Given the description of an element on the screen output the (x, y) to click on. 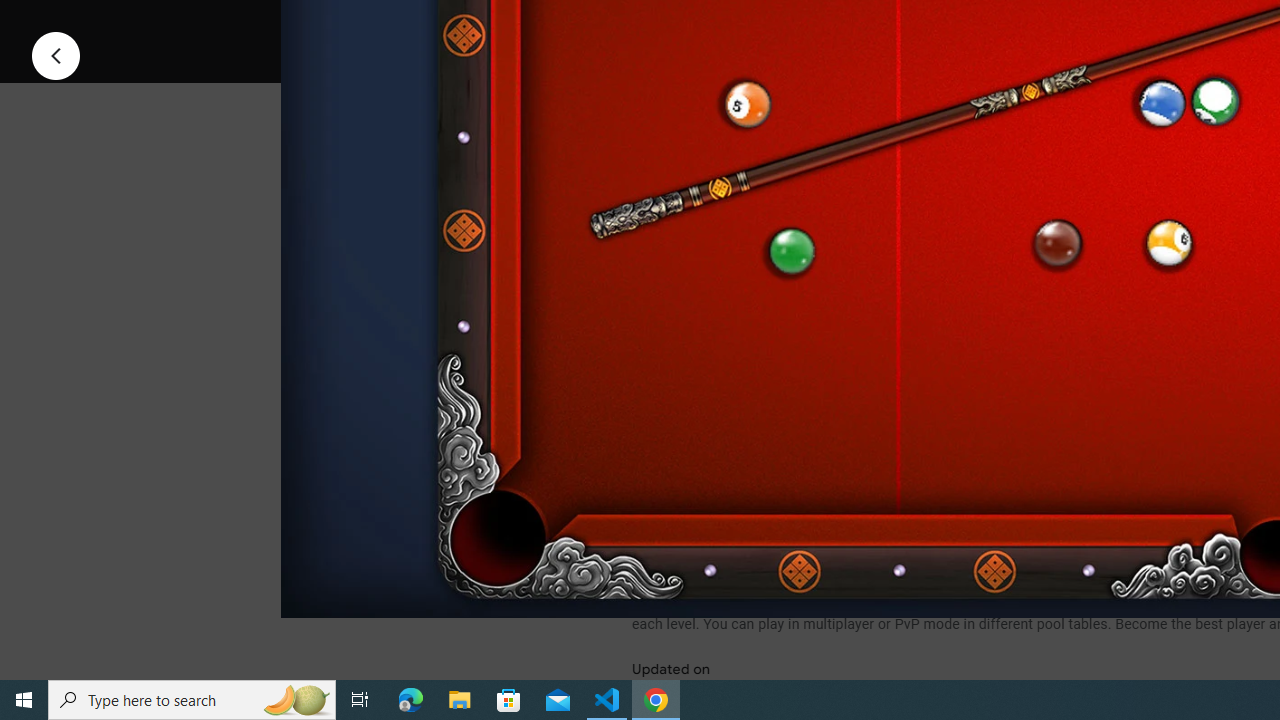
Previous (55, 54)
Add to wishlist (1014, 24)
Install (732, 24)
Screenshot image (895, 271)
Share (890, 24)
See more information on About this game (830, 477)
